Given the description of an element on the screen output the (x, y) to click on. 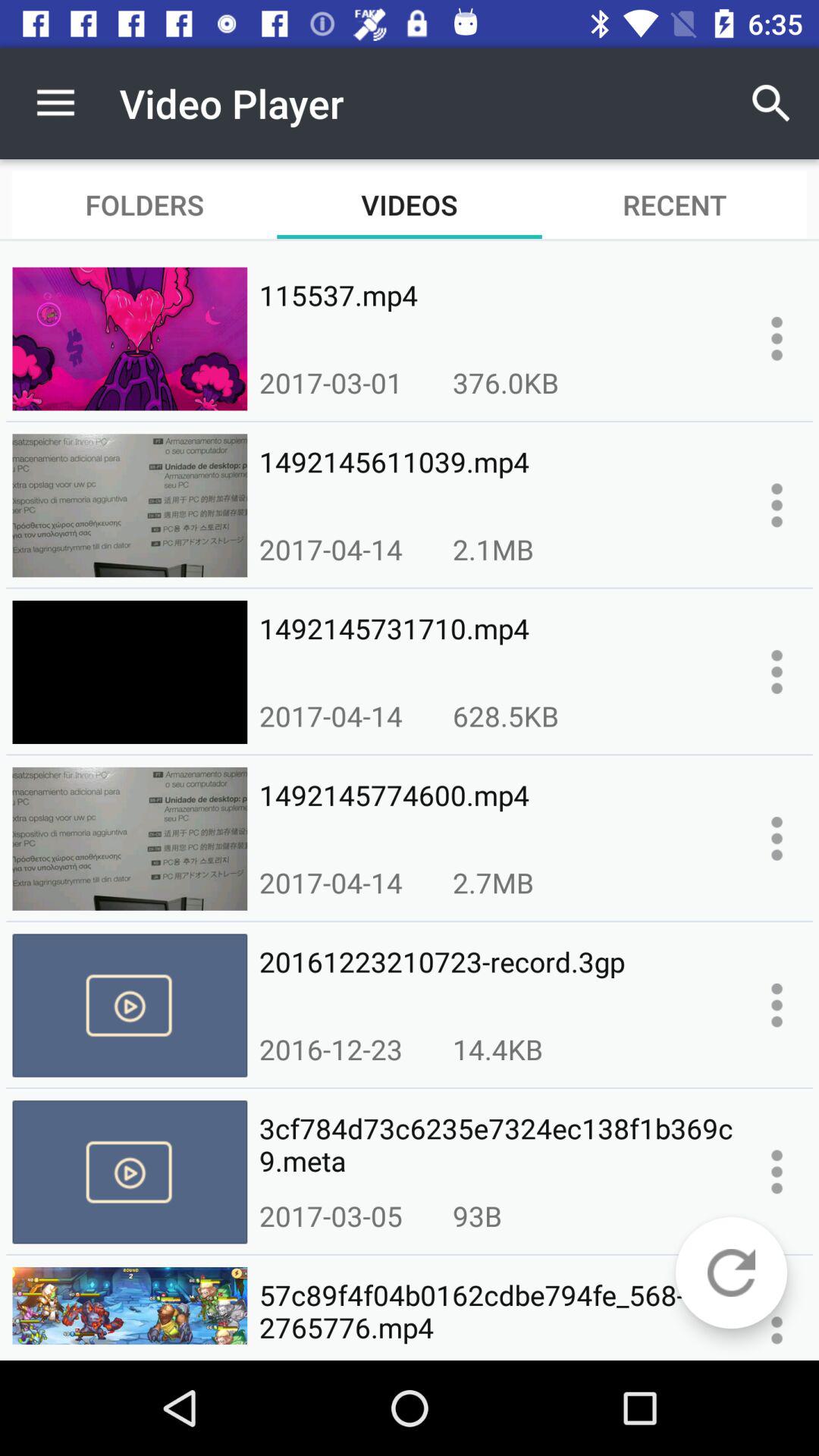
open context menu (776, 671)
